Given the description of an element on the screen output the (x, y) to click on. 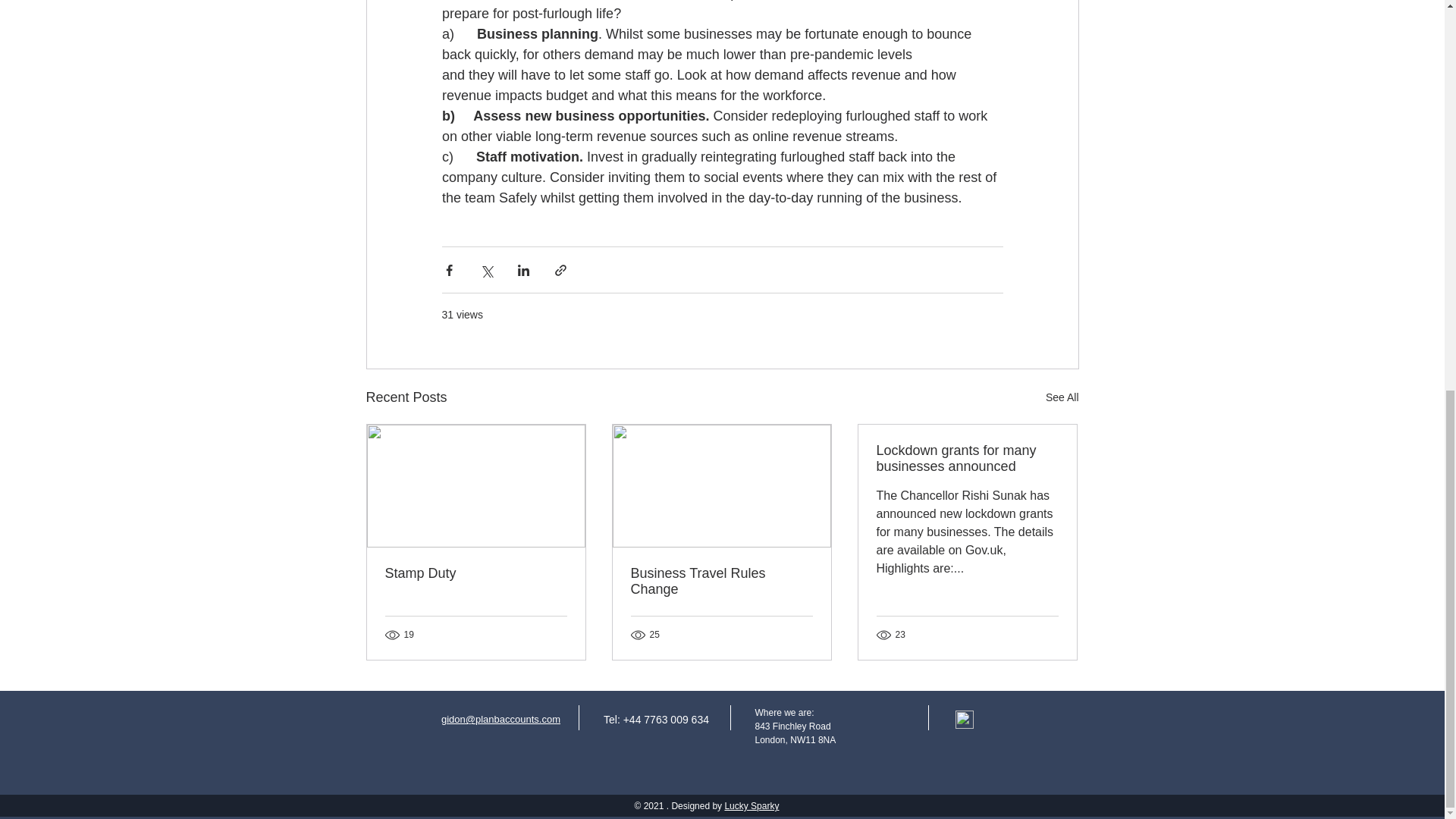
See All (1061, 397)
Stamp Duty (476, 573)
Business Travel Rules Change (721, 581)
Lucky Sparky (750, 805)
Lockdown grants for many businesses announced (967, 459)
